Given the description of an element on the screen output the (x, y) to click on. 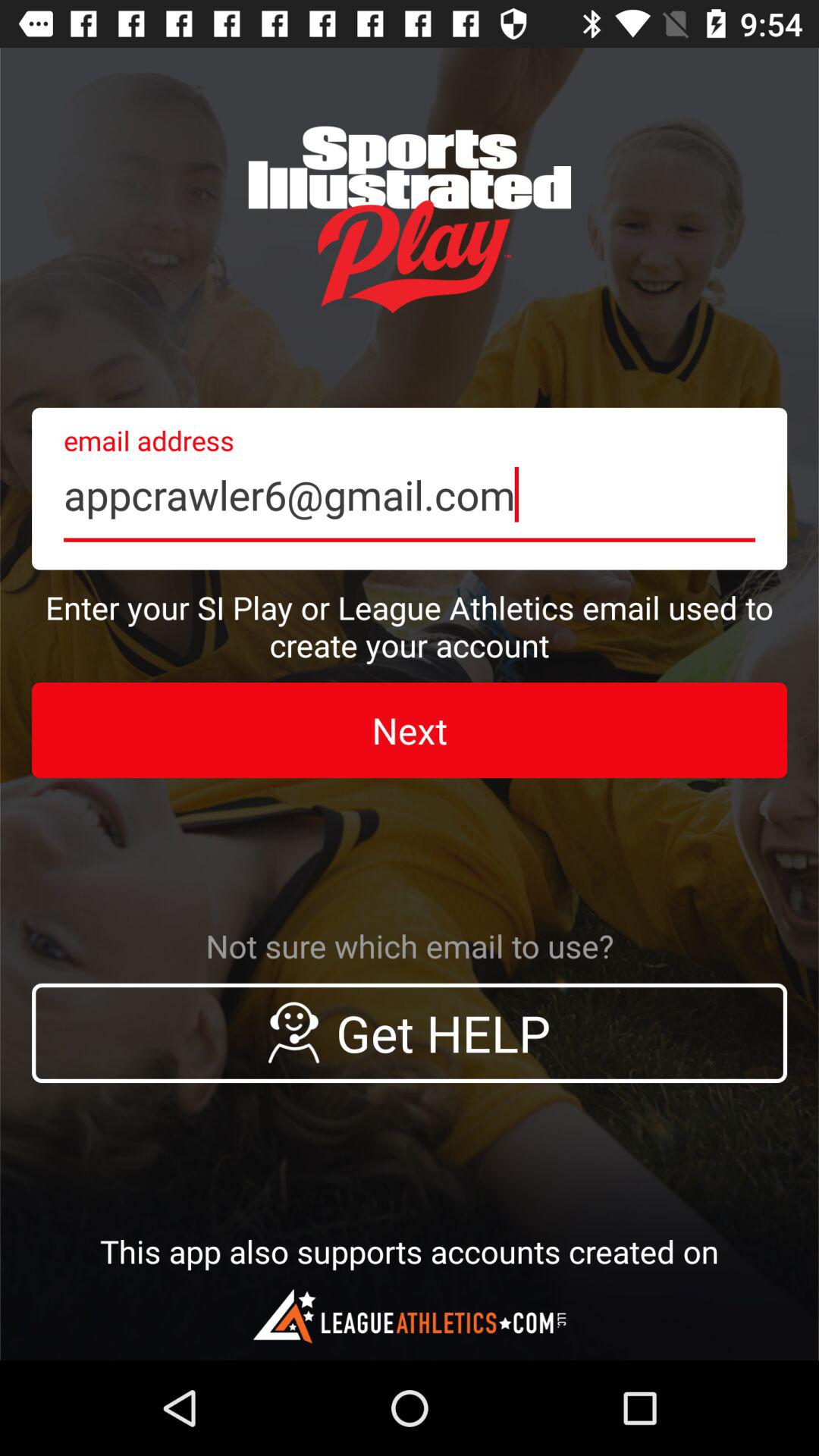
select the icon above enter your si (409, 488)
